Given the description of an element on the screen output the (x, y) to click on. 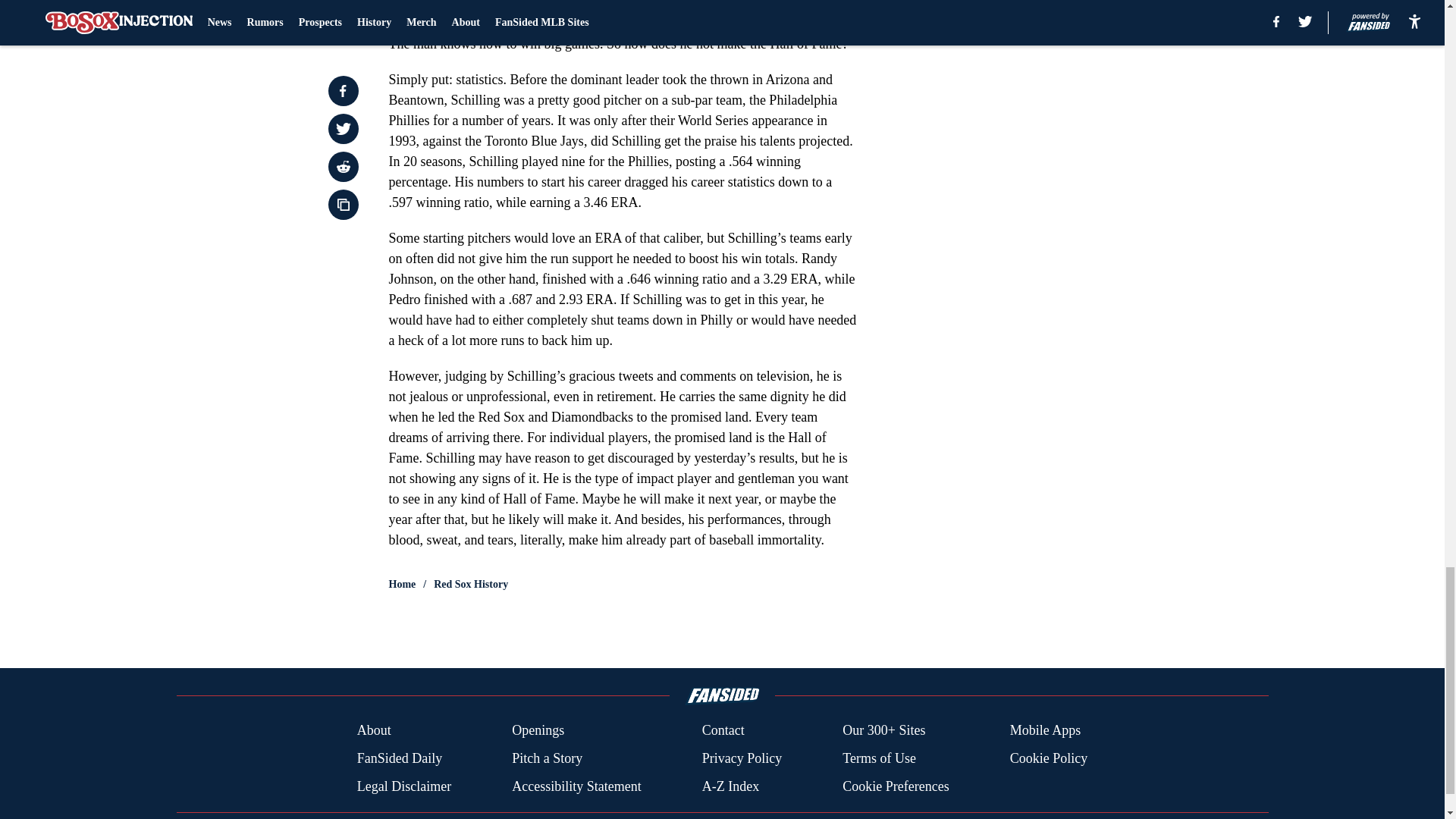
Mobile Apps (1045, 730)
Home (401, 584)
FanSided Daily (399, 758)
Pitch a Story (547, 758)
Openings (538, 730)
Contact (722, 730)
About (373, 730)
Red Sox History (470, 584)
